Given the description of an element on the screen output the (x, y) to click on. 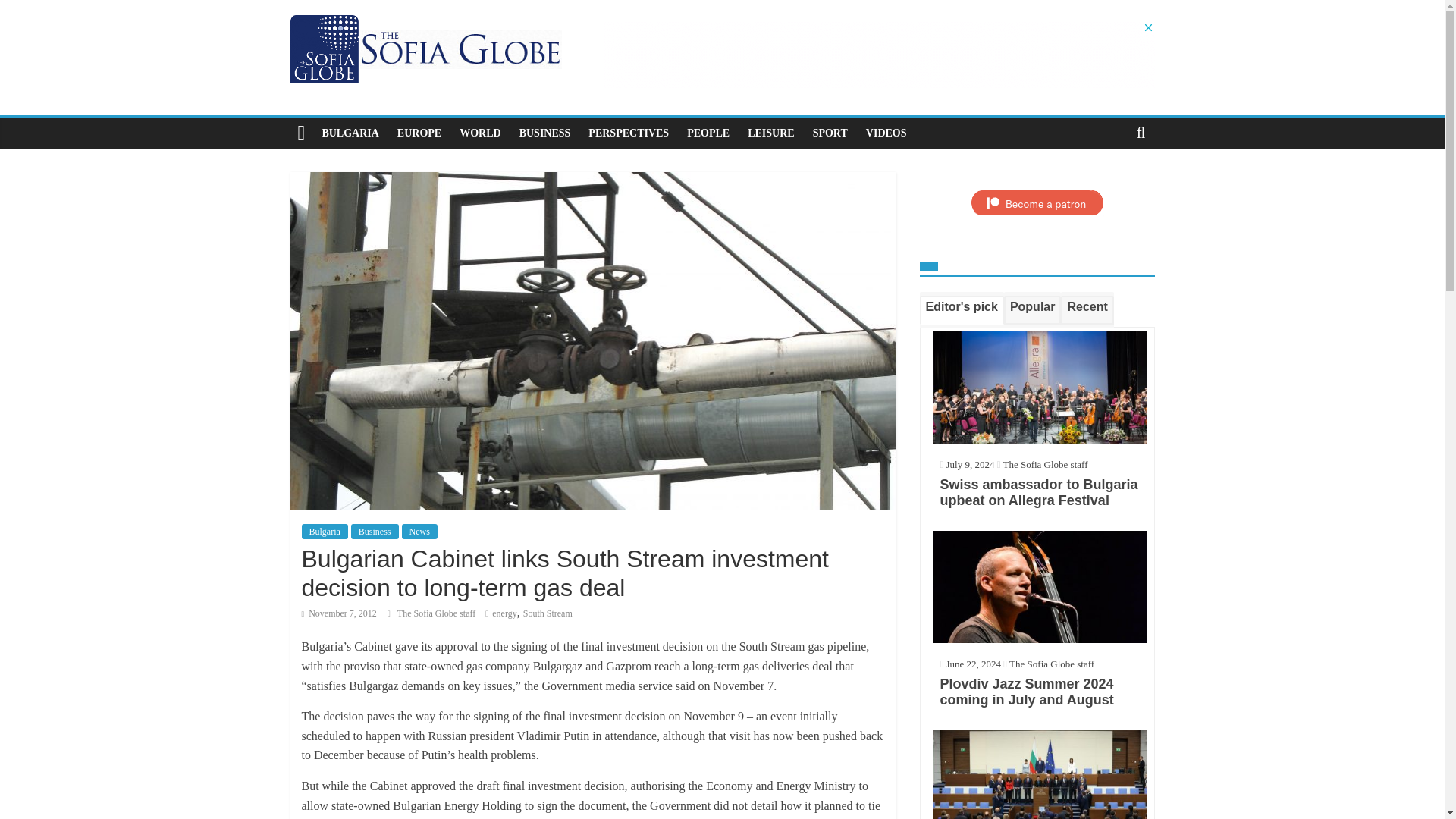
Bulgaria (324, 531)
The Sofia Globe staff (437, 613)
VIDEOS (886, 133)
SPORT (830, 133)
South Stream (547, 613)
LEISURE (770, 133)
EUROPE (418, 133)
News (419, 531)
Business (374, 531)
energy (504, 613)
3rd party ad content (878, 55)
November 7, 2012 (339, 613)
PEOPLE (708, 133)
BULGARIA (350, 133)
BUSINESS (545, 133)
